Given the description of an element on the screen output the (x, y) to click on. 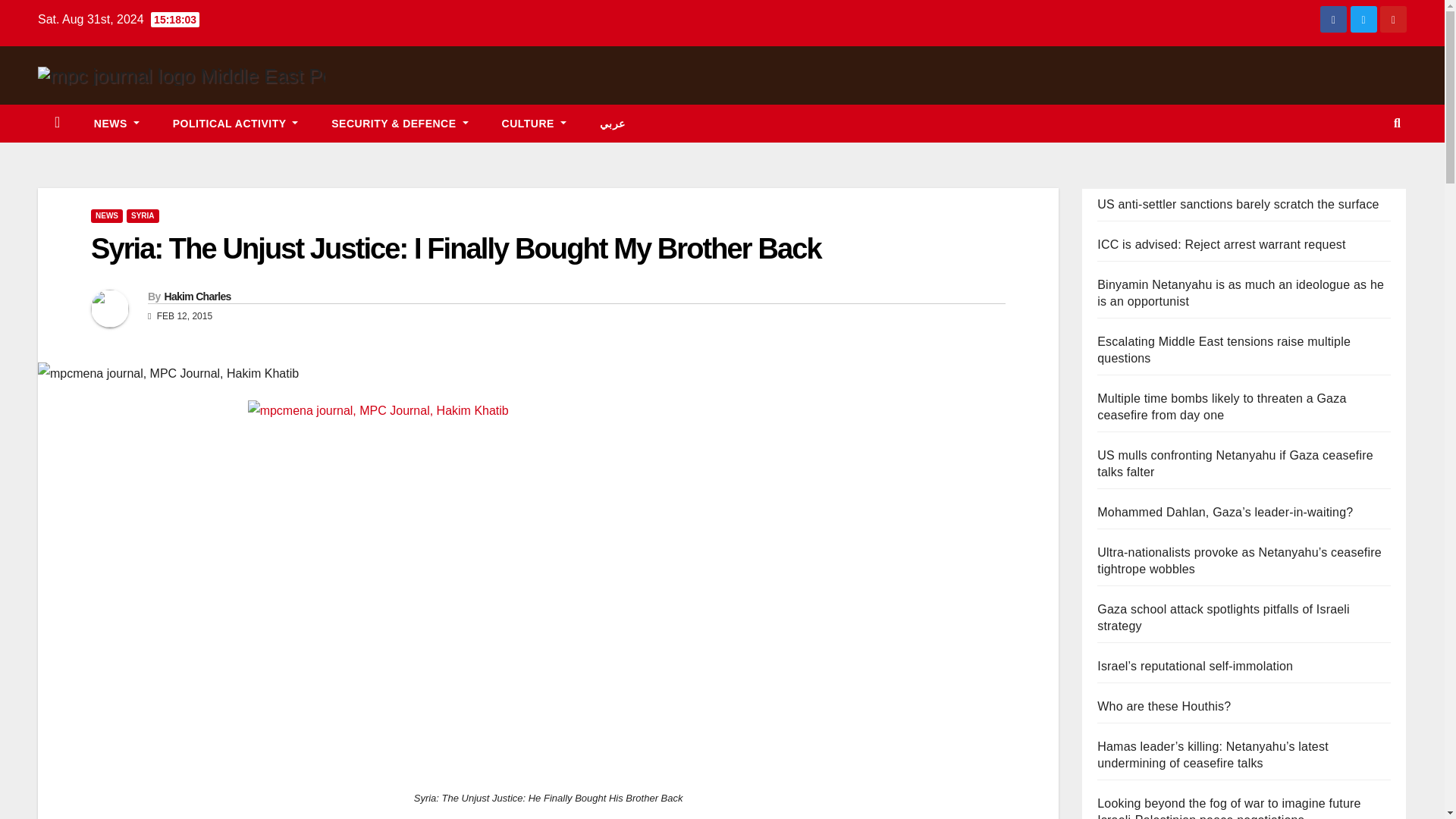
NEWS (106, 215)
Syria: The Unjust Justice: I Finally Bought My Brother Back (455, 248)
NEWS (116, 123)
CULTURE (533, 123)
POLITICAL ACTIVITY (234, 123)
News (116, 123)
SYRIA (142, 215)
Political activity (234, 123)
